Given the description of an element on the screen output the (x, y) to click on. 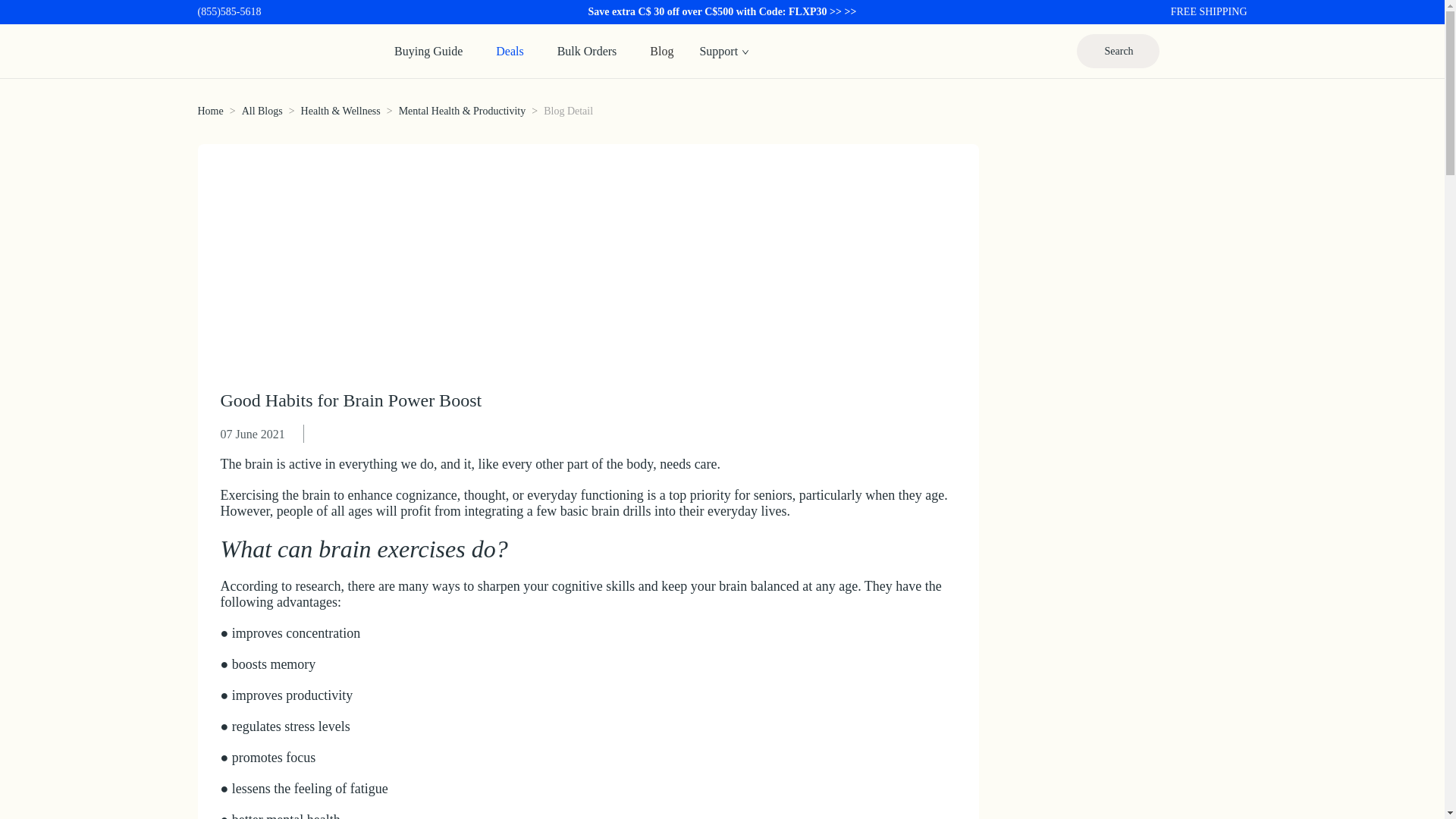
Bulk Orders (587, 50)
Deals (509, 50)
Blog (661, 50)
Buying Guide (428, 50)
All Blogs (261, 111)
Home (209, 111)
